Given the description of an element on the screen output the (x, y) to click on. 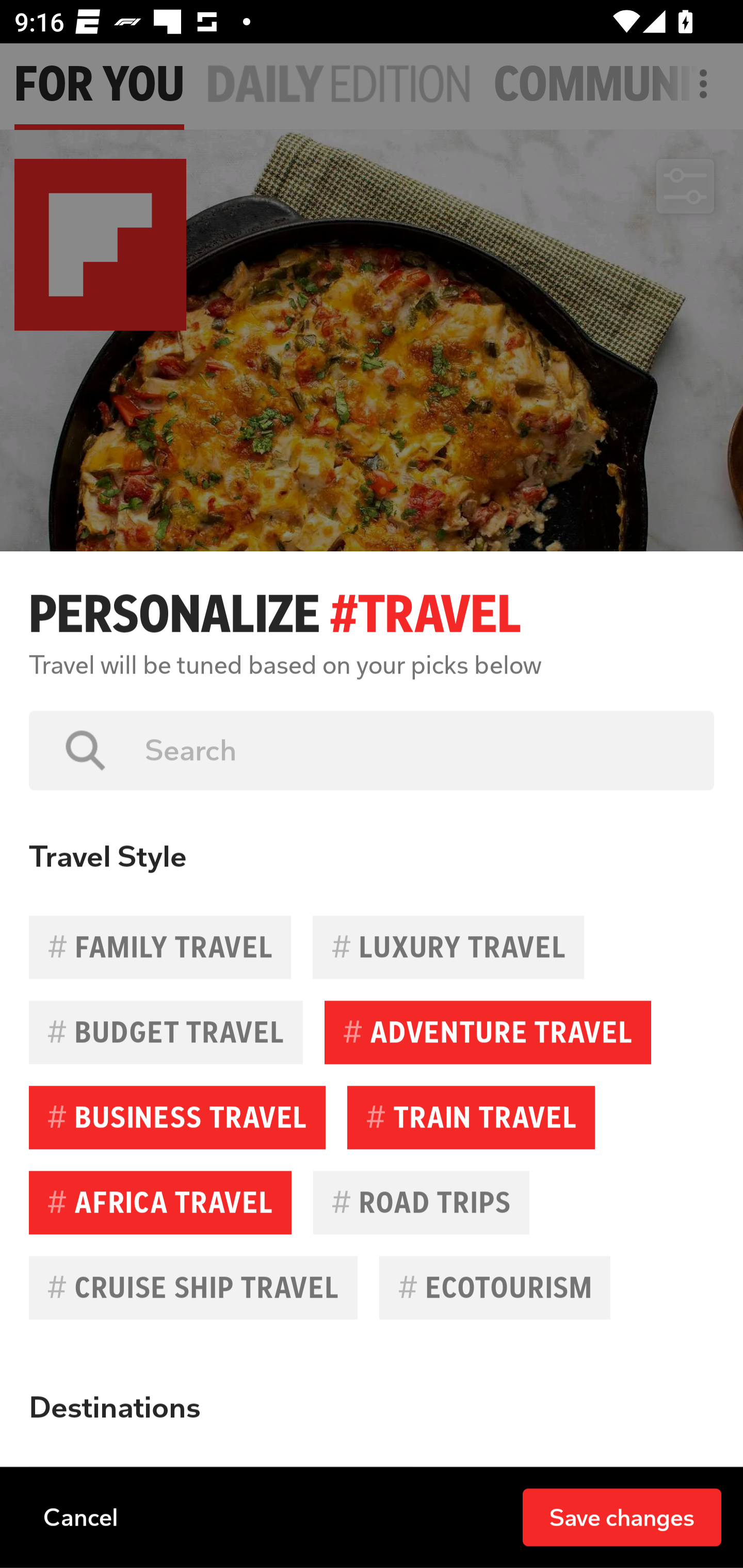
Search (414, 750)
Curated by The Food Desk (163, 882)
# FAMILY TRAVEL (159, 946)
# LUXURY TRAVEL (447, 946)
# BUDGET TRAVEL (165, 1032)
# ADVENTURE TRAVEL (487, 1032)
# BUSINESS TRAVEL (176, 1117)
# TRAIN TRAVEL (470, 1117)
# AFRICA TRAVEL (159, 1202)
# ROAD TRIPS (421, 1202)
# CRUISE SHIP TRAVEL (192, 1286)
# ECOTOURISM (494, 1286)
NPR · 11h Flip into Magazine (185, 1437)
Cancel (80, 1516)
Save changes (621, 1517)
